Given the description of an element on the screen output the (x, y) to click on. 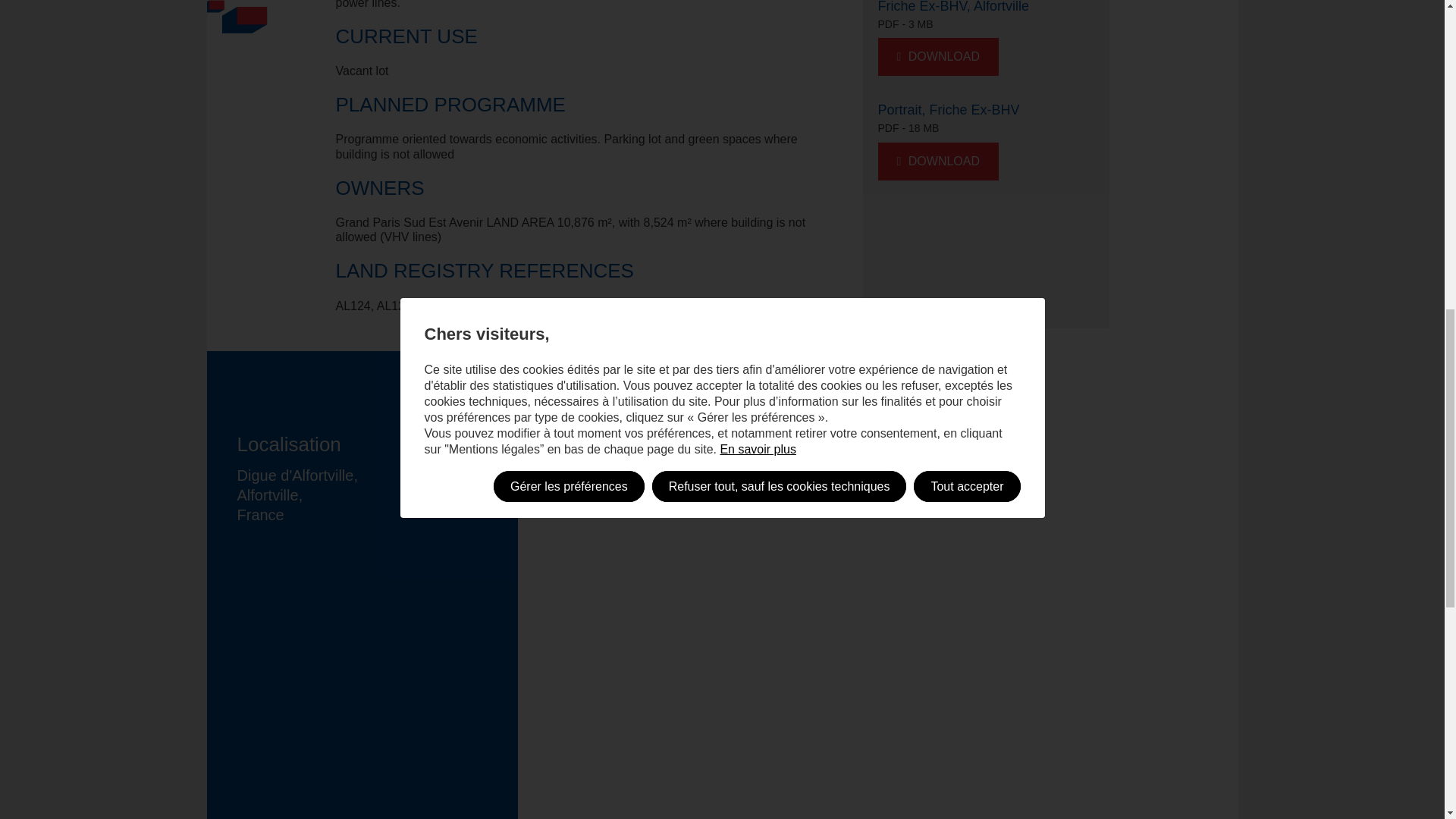
DOWNLOAD (937, 56)
